Given the description of an element on the screen output the (x, y) to click on. 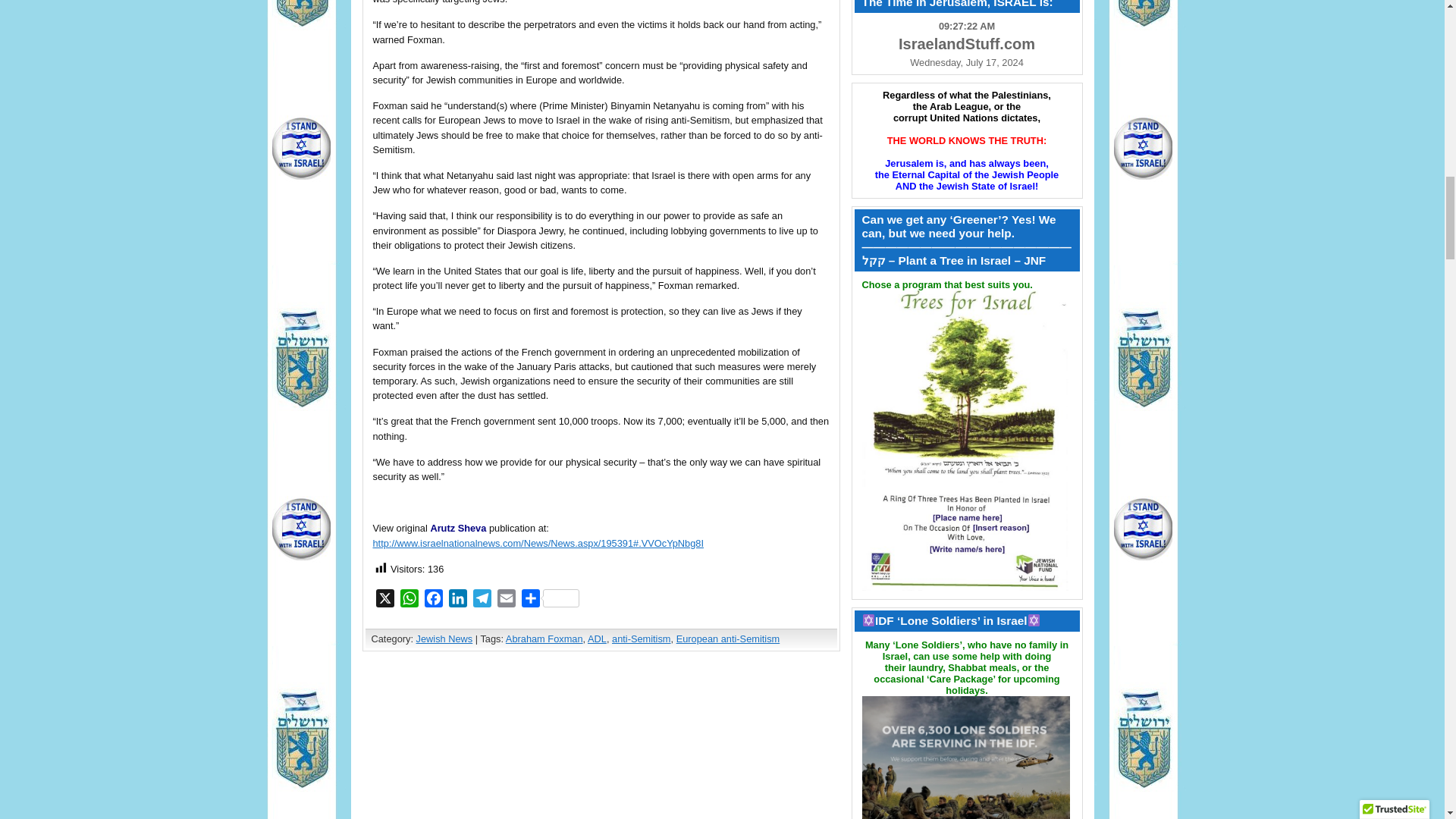
X (384, 600)
Facebook (433, 600)
WhatsApp (409, 600)
LinkedIn (457, 600)
